Given the description of an element on the screen output the (x, y) to click on. 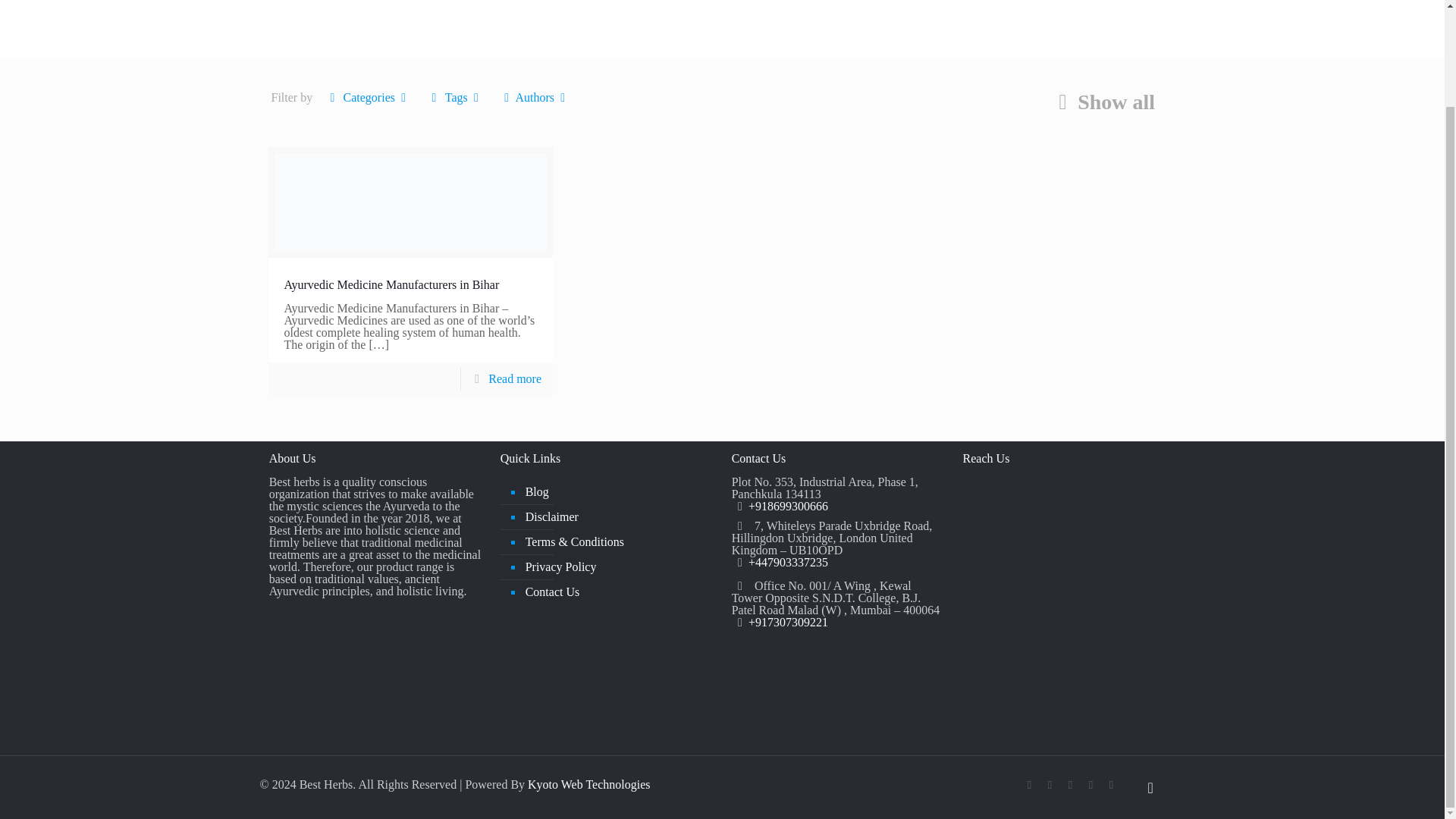
Categories (368, 97)
Pinterest (1091, 784)
Facebook (1029, 784)
LinkedIn (1070, 784)
Twitter (1050, 784)
Tags (455, 97)
Authors (533, 97)
Instagram (1111, 784)
Show all (1101, 102)
